Given the description of an element on the screen output the (x, y) to click on. 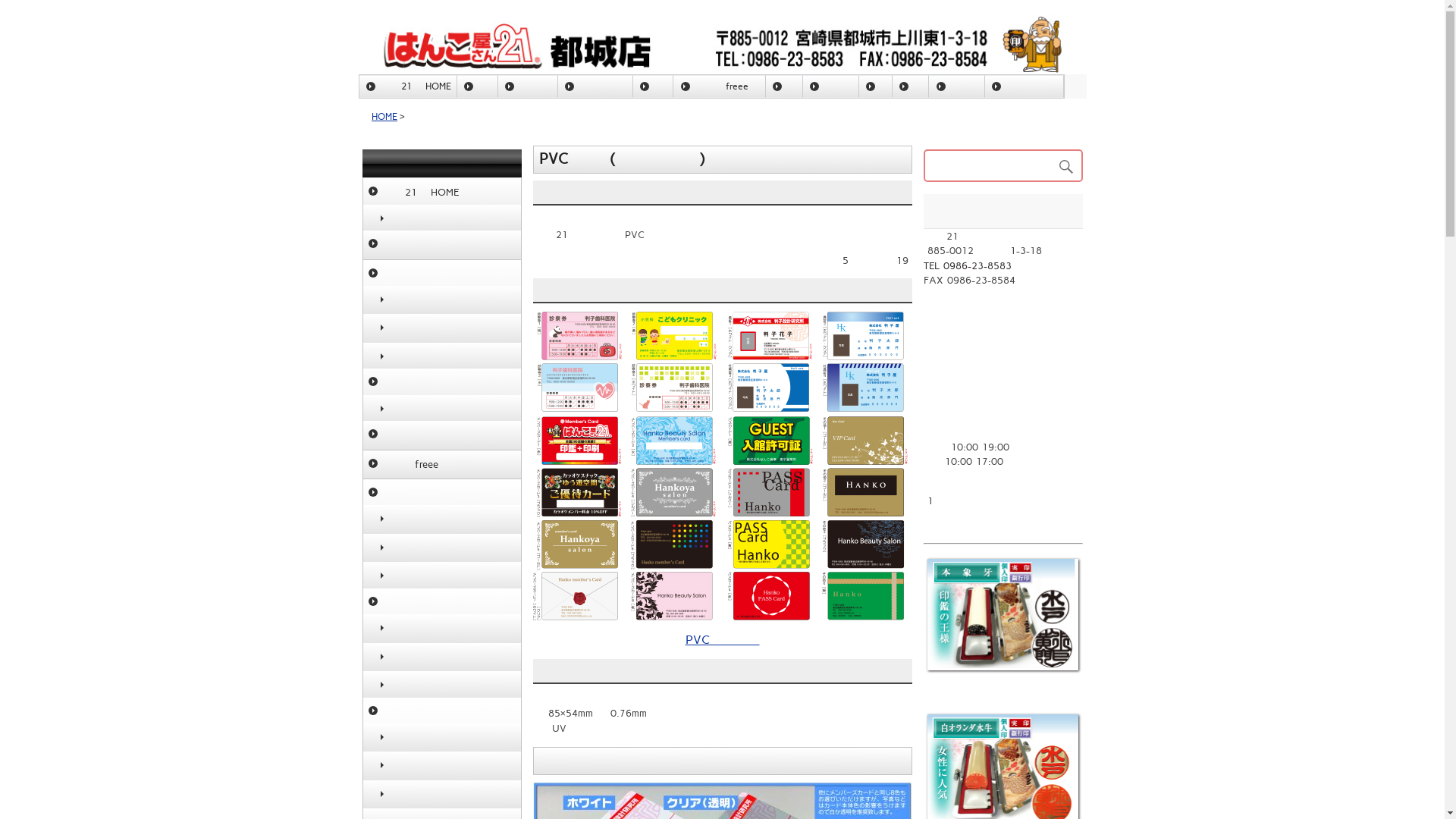
HOME Element type: text (384, 116)
